Given the description of an element on the screen output the (x, y) to click on. 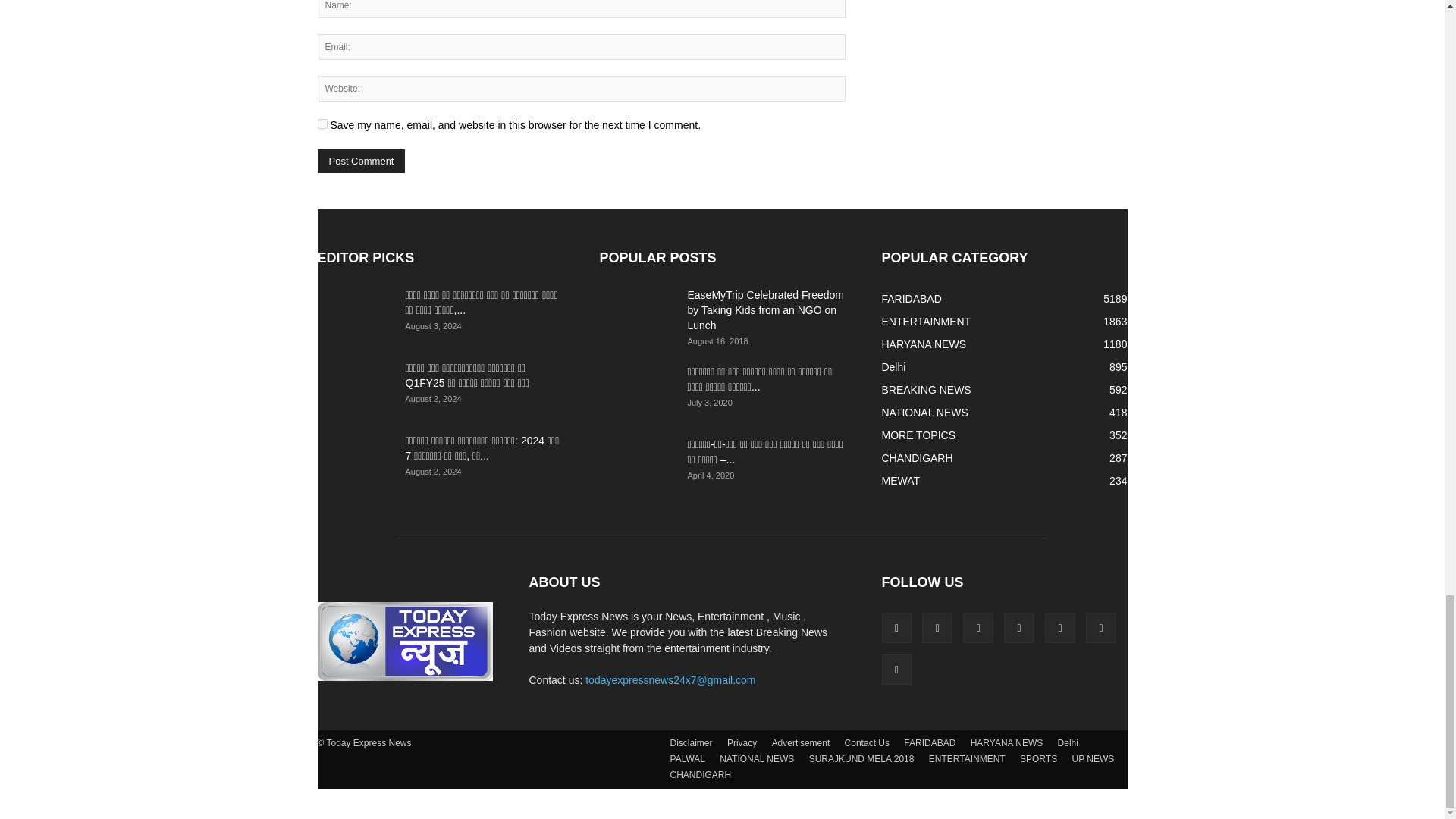
Post Comment (360, 160)
yes (321, 123)
